Given the description of an element on the screen output the (x, y) to click on. 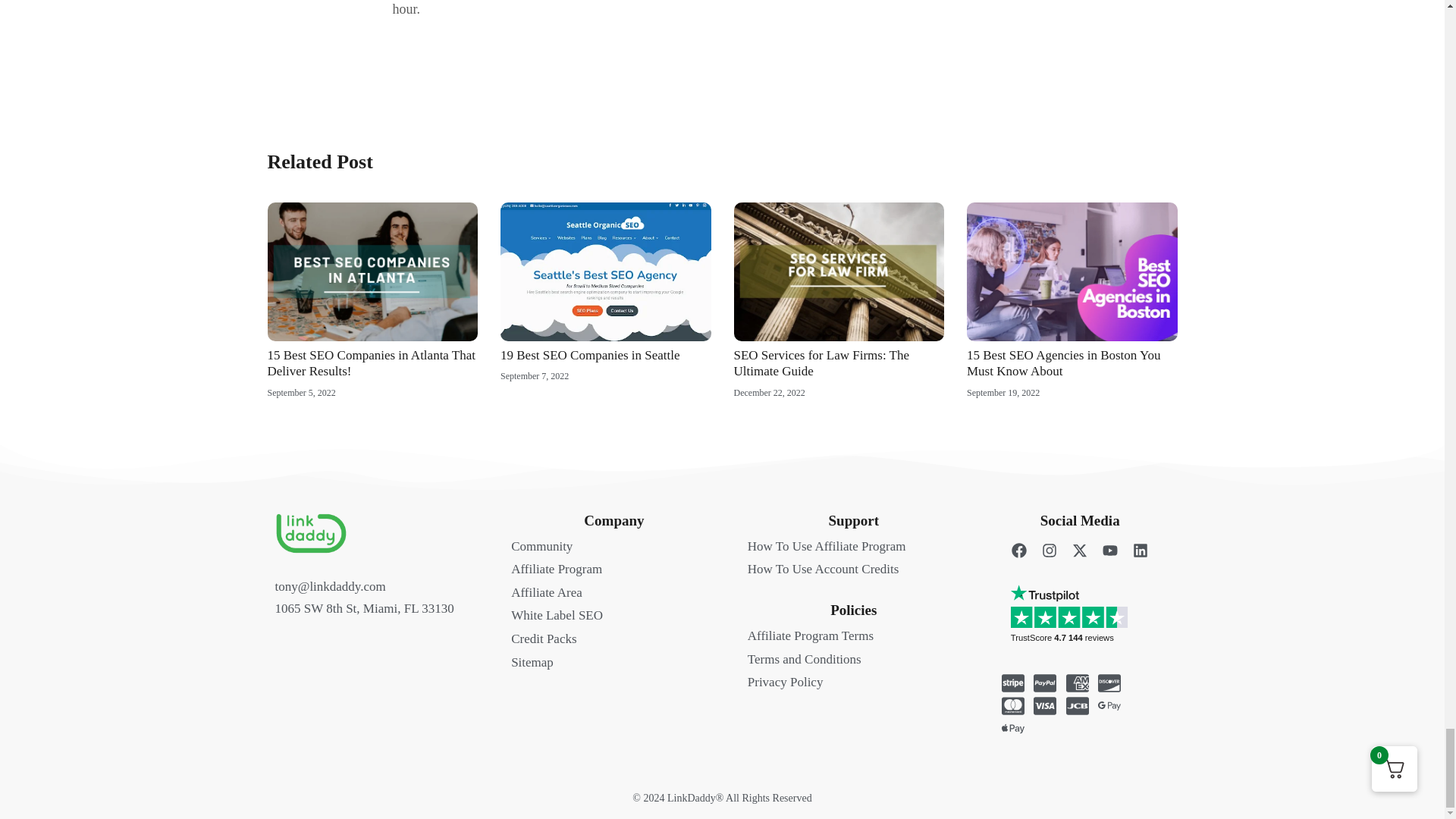
Customer reviews powered by Trustpilot (1088, 627)
